Given the description of an element on the screen output the (x, y) to click on. 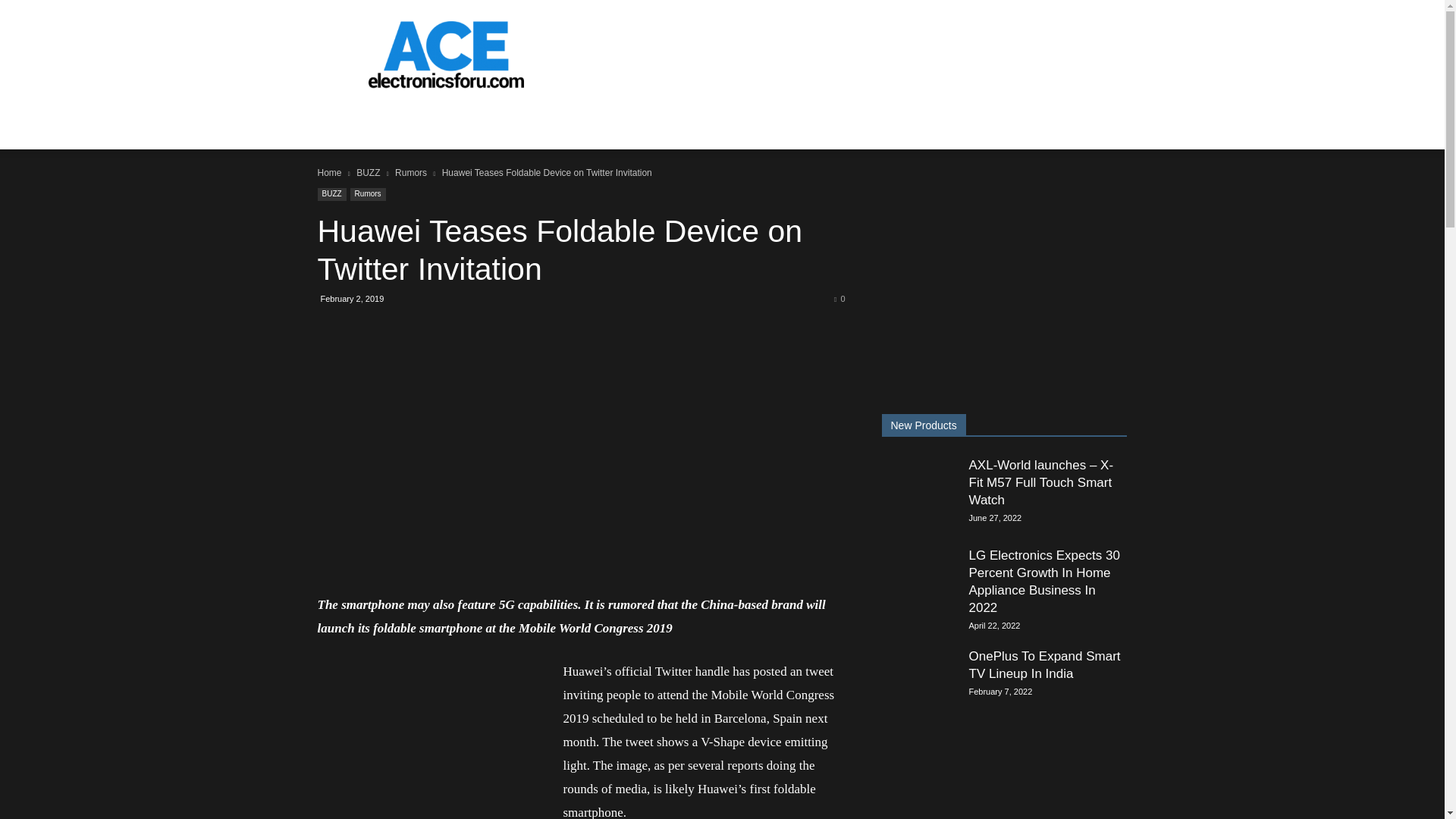
CHANNEL (353, 122)
